Given the description of an element on the screen output the (x, y) to click on. 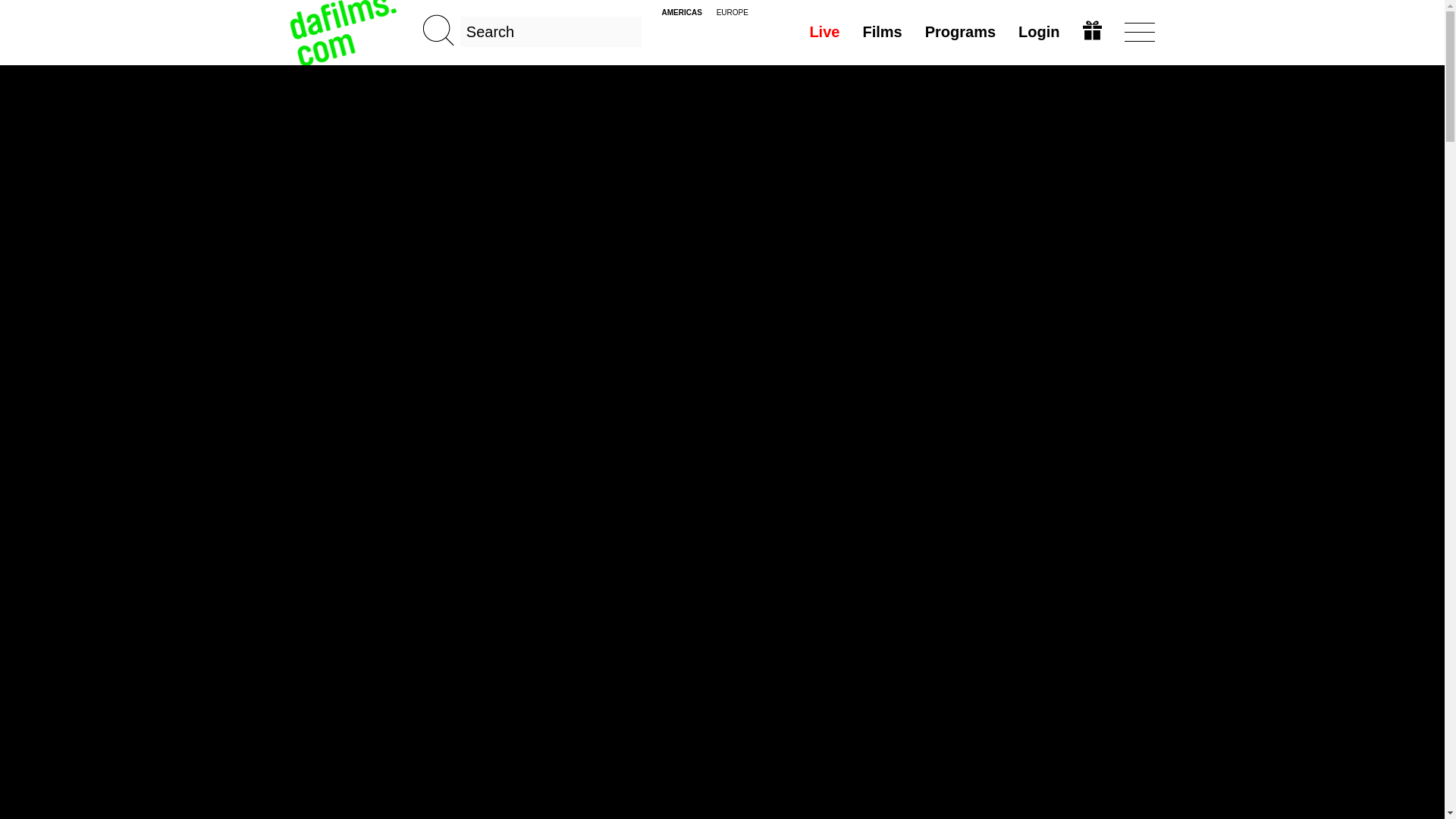
Films (881, 31)
EUROPE (732, 12)
Home (343, 32)
Programs (960, 31)
Live (823, 31)
Login (1038, 31)
